Given the description of an element on the screen output the (x, y) to click on. 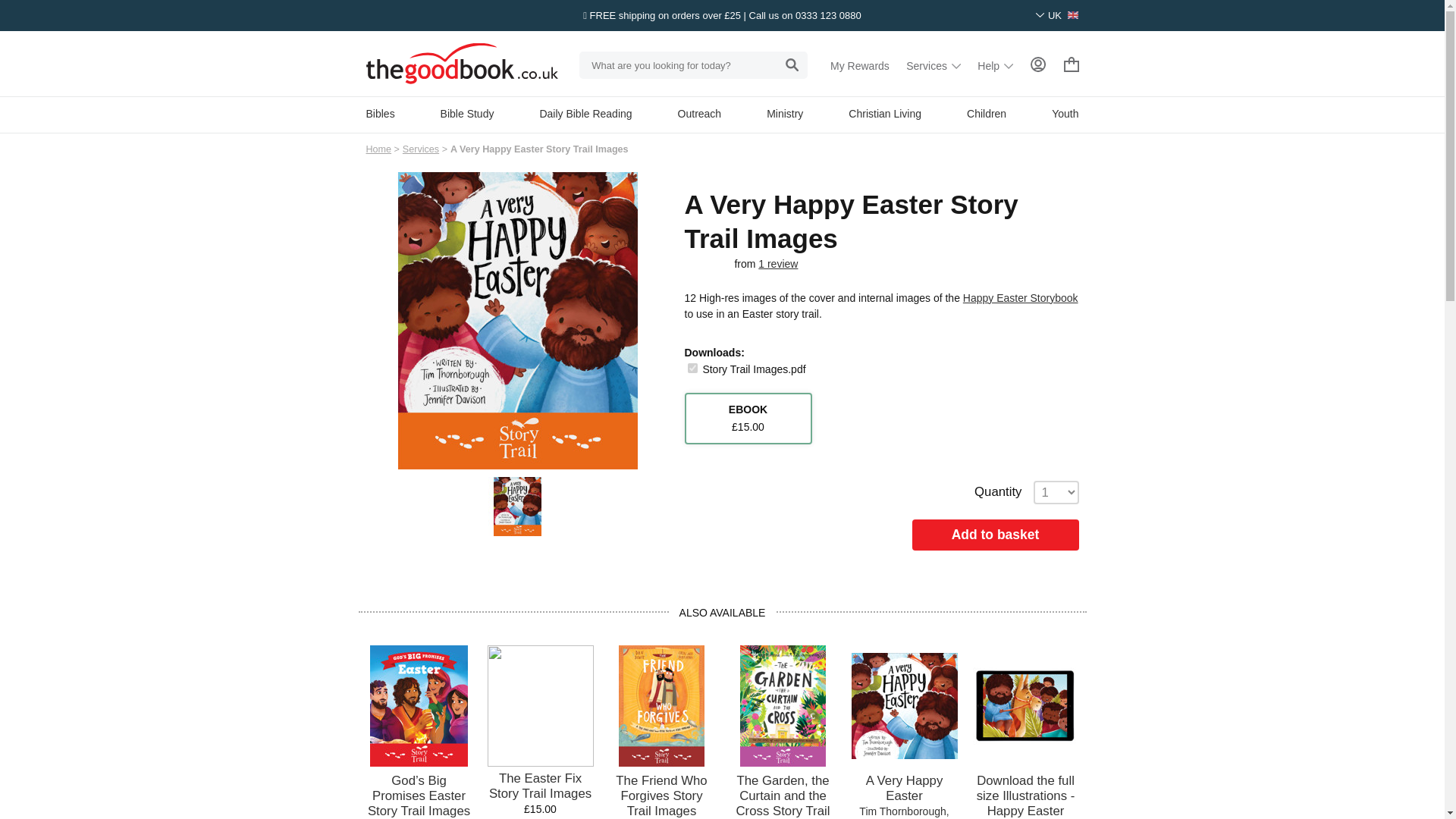
Bibles (379, 113)
Go to Home Page (378, 149)
My Rewards (859, 65)
1 (692, 368)
Sign in (1037, 64)
UK (1056, 14)
Services (932, 65)
Help (994, 65)
